Given the description of an element on the screen output the (x, y) to click on. 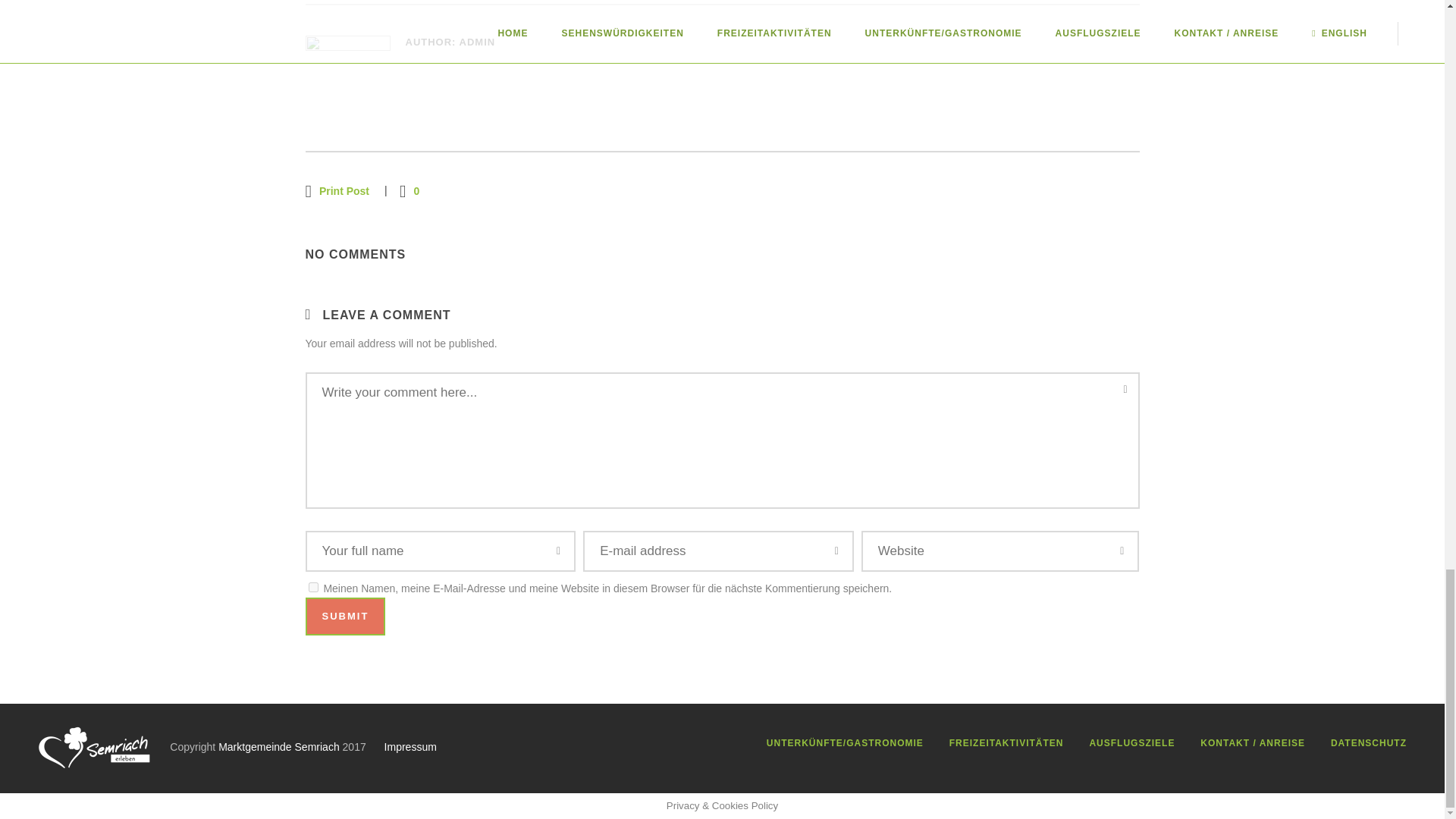
Print Post (336, 190)
Submit (344, 616)
Like this (408, 190)
Submit (344, 616)
yes (312, 587)
0 (408, 190)
